Given the description of an element on the screen output the (x, y) to click on. 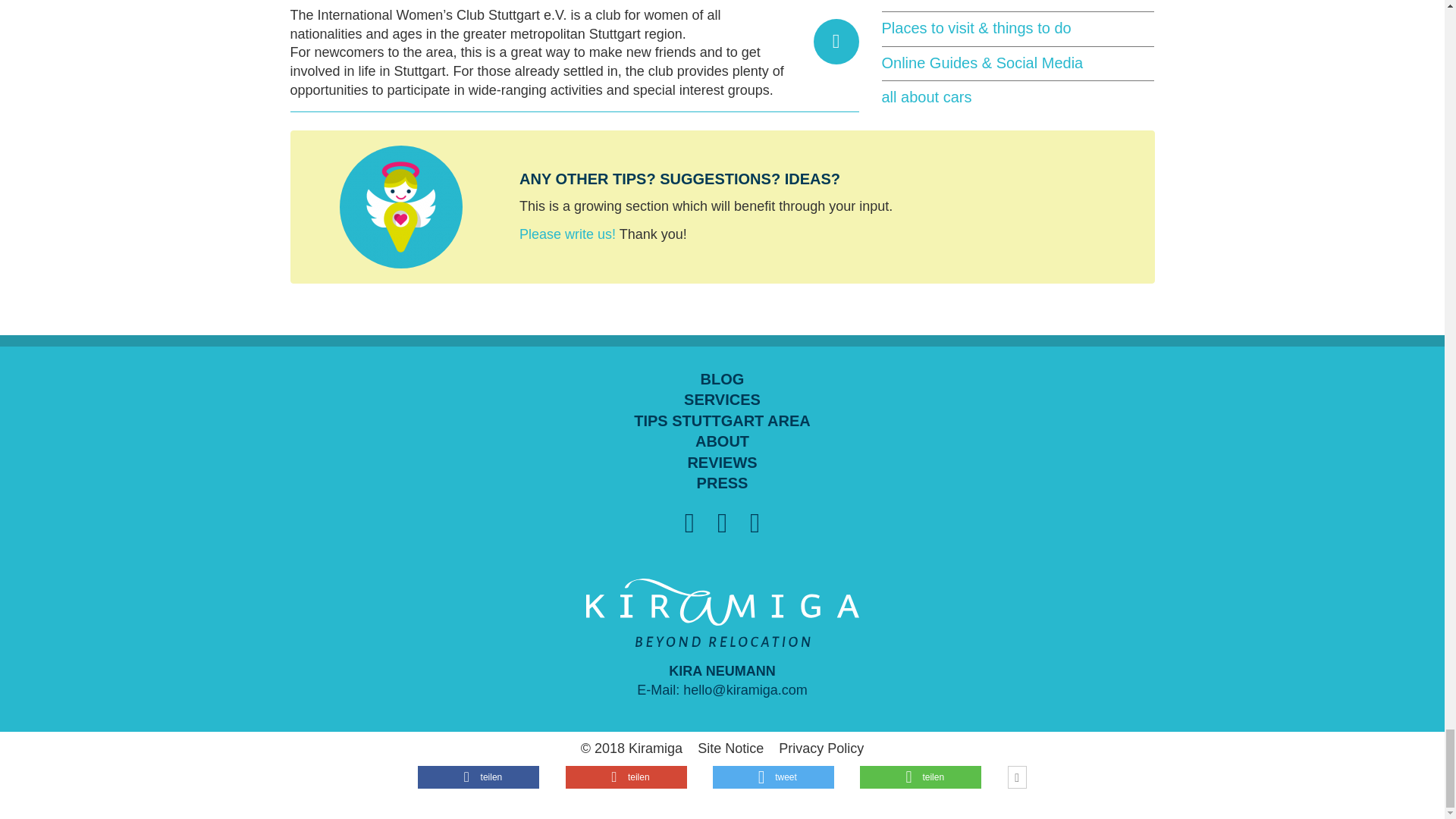
Visit us on Xing (689, 523)
Besuchen Sie uns bei Instagram (754, 523)
Press (721, 483)
Services (722, 400)
About (722, 441)
Look us up on Facebook (722, 523)
Reviews (721, 463)
Tips Stuttgart Area (722, 421)
